Given the description of an element on the screen output the (x, y) to click on. 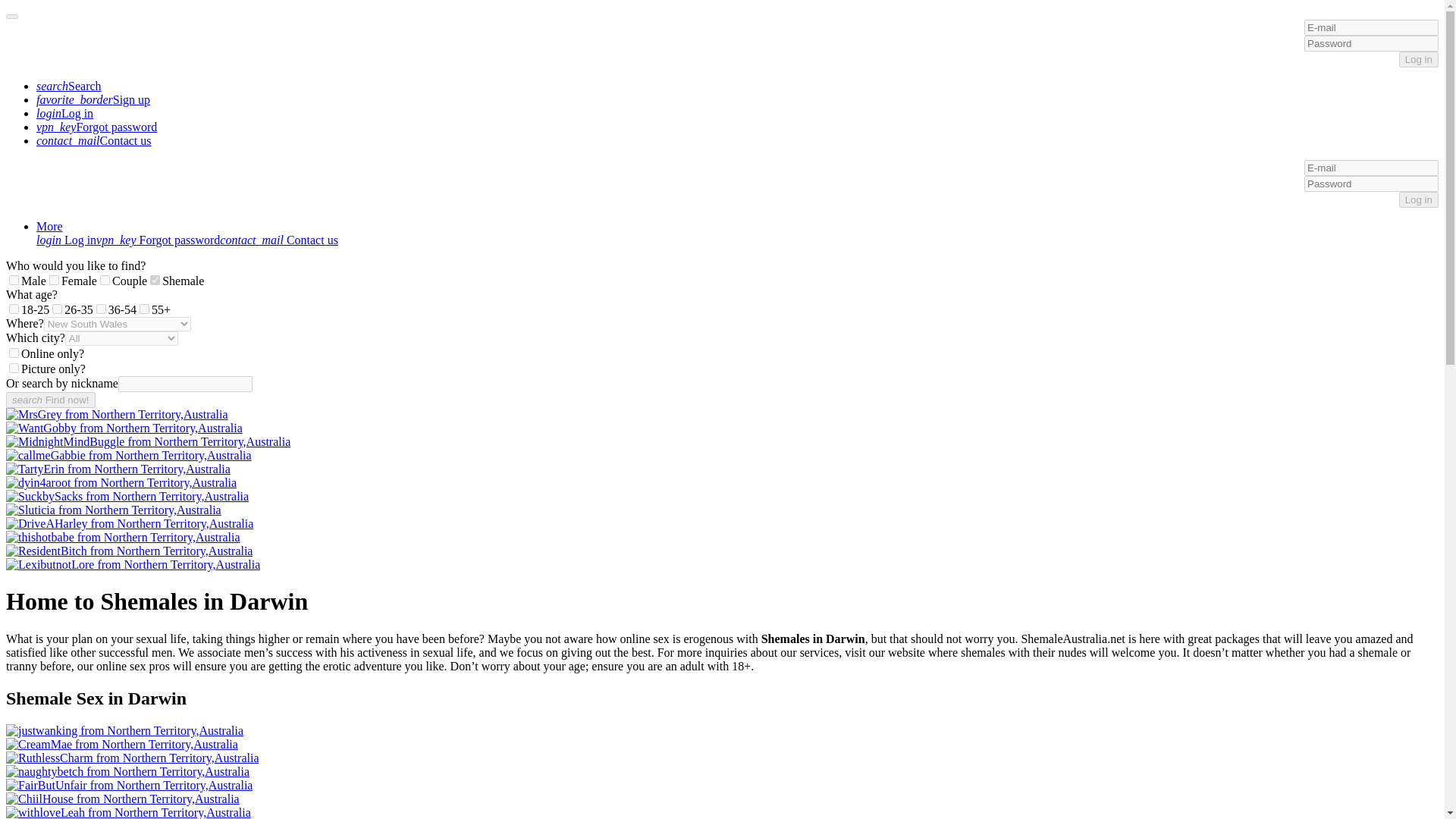
shemale (154, 280)
1 (13, 352)
male (13, 280)
18-25 (13, 308)
searchSearch (68, 85)
female (54, 280)
search Find now! (50, 399)
36-54 (101, 308)
26-35 (57, 308)
login Log in (66, 239)
